Given the description of an element on the screen output the (x, y) to click on. 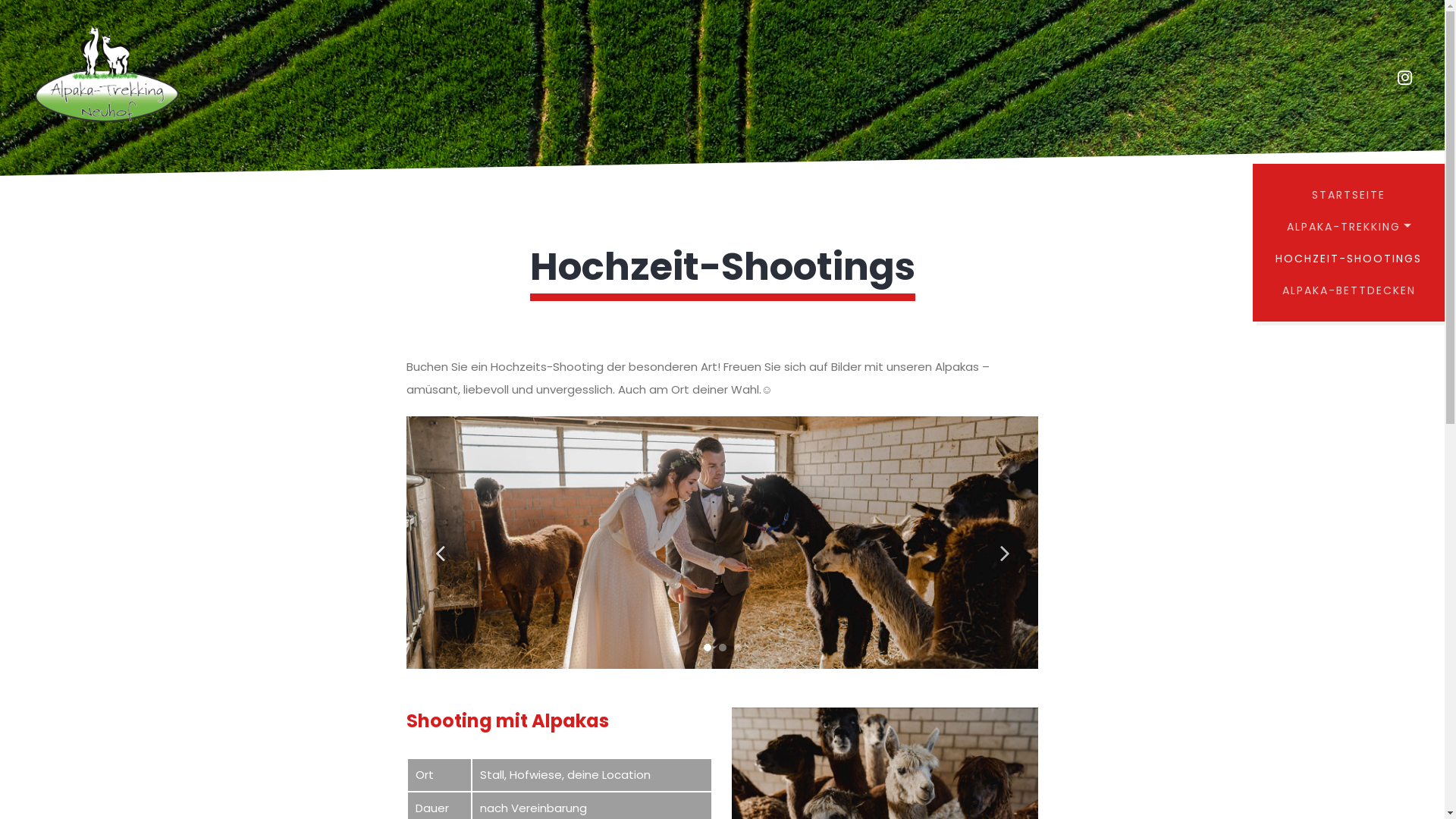
Neuhof Element type: hover (106, 77)
STARTSEITE Element type: text (1348, 194)
2 Element type: text (722, 647)
3 Element type: text (737, 647)
ALPAKA-BETTDECKEN Element type: text (1348, 290)
1 Element type: text (707, 647)
HOCHZEIT-SHOOTINGS Element type: text (1348, 258)
